Given the description of an element on the screen output the (x, y) to click on. 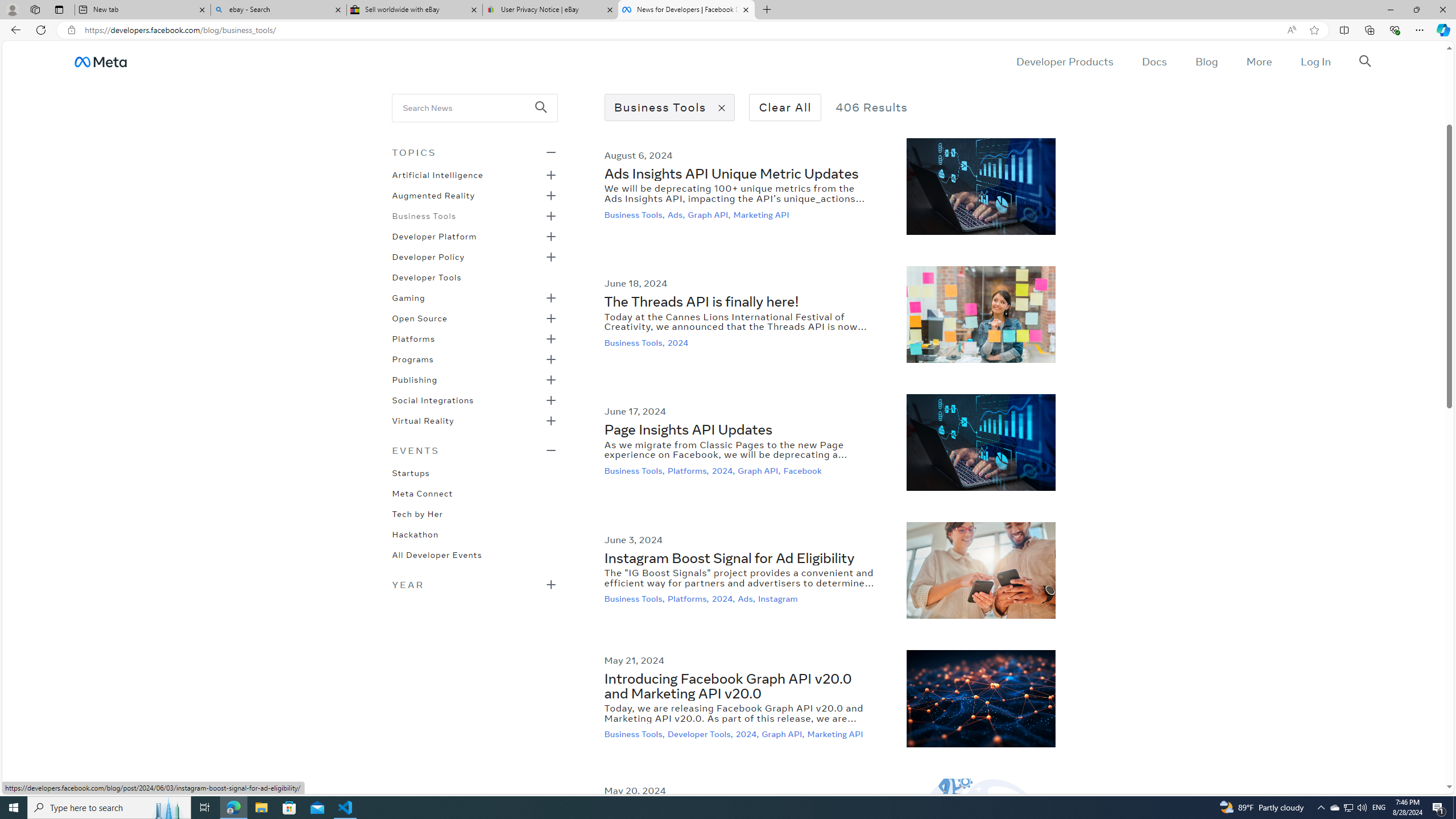
Gaming (408, 296)
AutomationID: u_0_4z_2S (100, 61)
Personal Profile (12, 9)
Virtual Reality (422, 419)
Startups (410, 472)
New tab (142, 9)
Business Tools, (636, 733)
Minimize (1390, 9)
Address and search bar (680, 29)
Publishing (414, 378)
Docs (1153, 61)
Class: _9890 _98ez (474, 584)
Artificial Intelligence (437, 173)
Class: _98ex _98ez (474, 423)
